Given the description of an element on the screen output the (x, y) to click on. 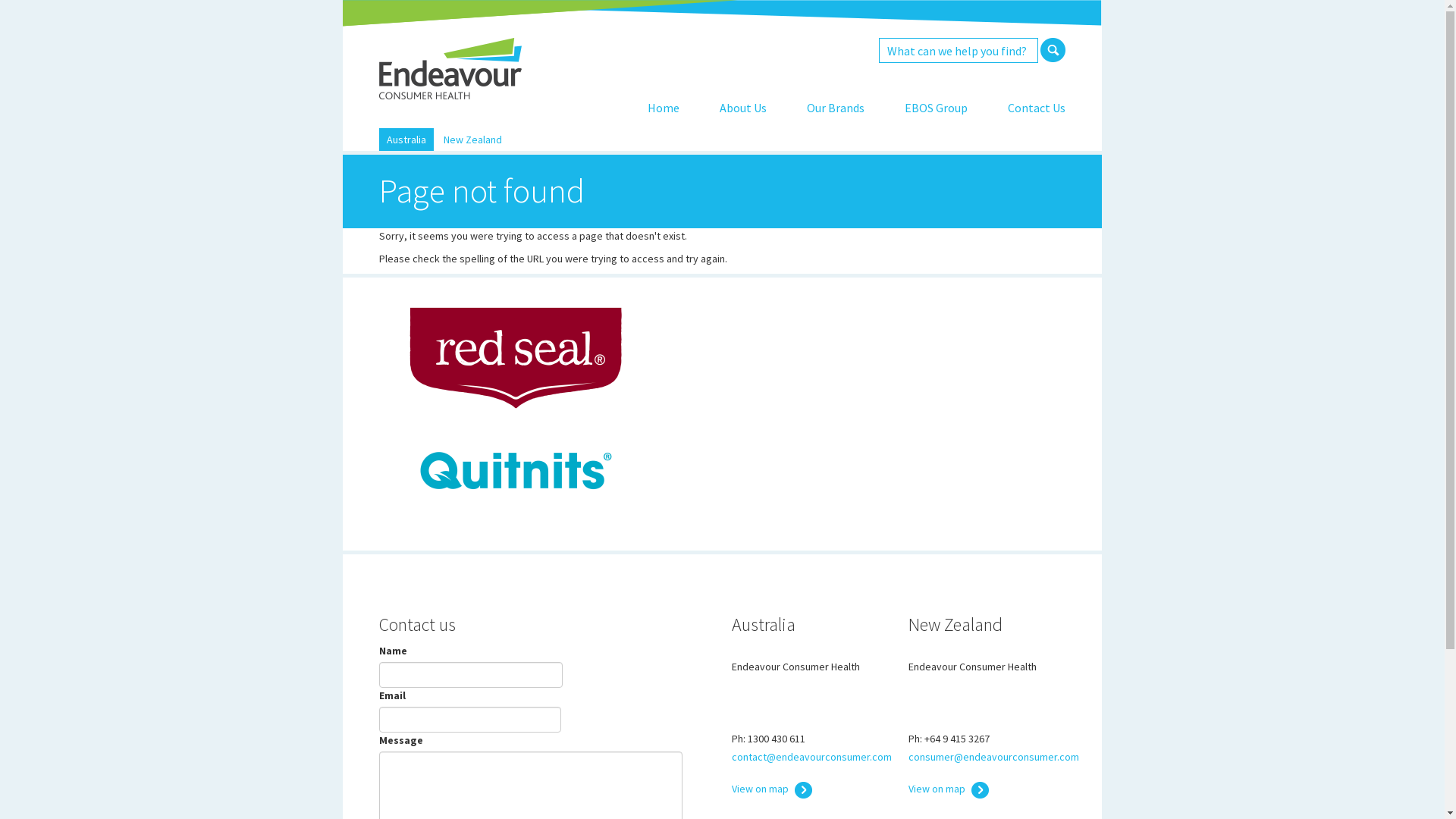
contact@endeavourconsumer.com Element type: text (811, 756)
Contact Us Element type: text (1036, 107)
Home Element type: text (663, 107)
Our Brands Element type: text (835, 107)
About Us Element type: text (742, 107)
EBOS Group Element type: text (935, 107)
consumer@endeavourconsumer.com Element type: text (993, 756)
Australia Element type: text (406, 139)
View on map Element type: text (771, 788)
New Zealand Element type: text (472, 139)
View on map Element type: text (948, 788)
